Given the description of an element on the screen output the (x, y) to click on. 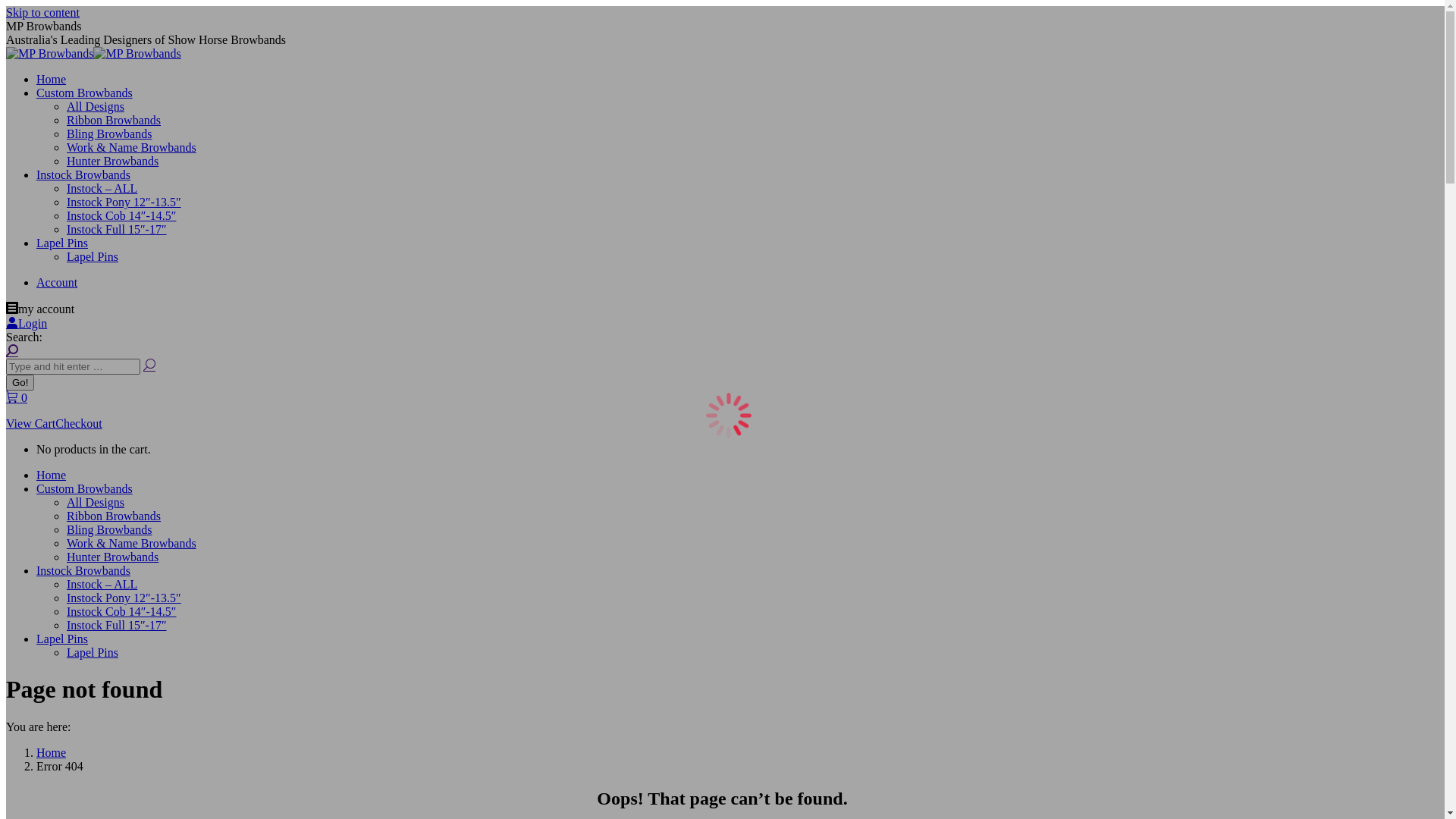
Custom Browbands Element type: text (84, 488)
Hunter Browbands Element type: text (112, 160)
Work & Name Browbands Element type: text (131, 147)
All Designs Element type: text (95, 106)
Checkout Element type: text (78, 423)
Lapel Pins Element type: text (92, 256)
Account Element type: text (56, 282)
Bling Browbands Element type: text (108, 529)
 0 Element type: text (16, 397)
Search form Element type: hover (73, 366)
Go! Element type: text (20, 382)
Bling Browbands Element type: text (108, 133)
Work & Name Browbands Element type: text (131, 542)
Instock Browbands Element type: text (83, 570)
Home Element type: text (50, 78)
Lapel Pins Element type: text (92, 652)
Custom Browbands Element type: text (84, 92)
View Cart Element type: text (30, 423)
Lapel Pins Element type: text (61, 638)
Ribbon Browbands Element type: text (113, 119)
Instock Browbands Element type: text (83, 174)
Home Element type: text (50, 752)
Skip to content Element type: text (42, 12)
Login Element type: text (26, 322)
Ribbon Browbands Element type: text (113, 515)
Hunter Browbands Element type: text (112, 556)
Lapel Pins Element type: text (61, 242)
Home Element type: text (50, 474)
All Designs Element type: text (95, 501)
